Given the description of an element on the screen output the (x, y) to click on. 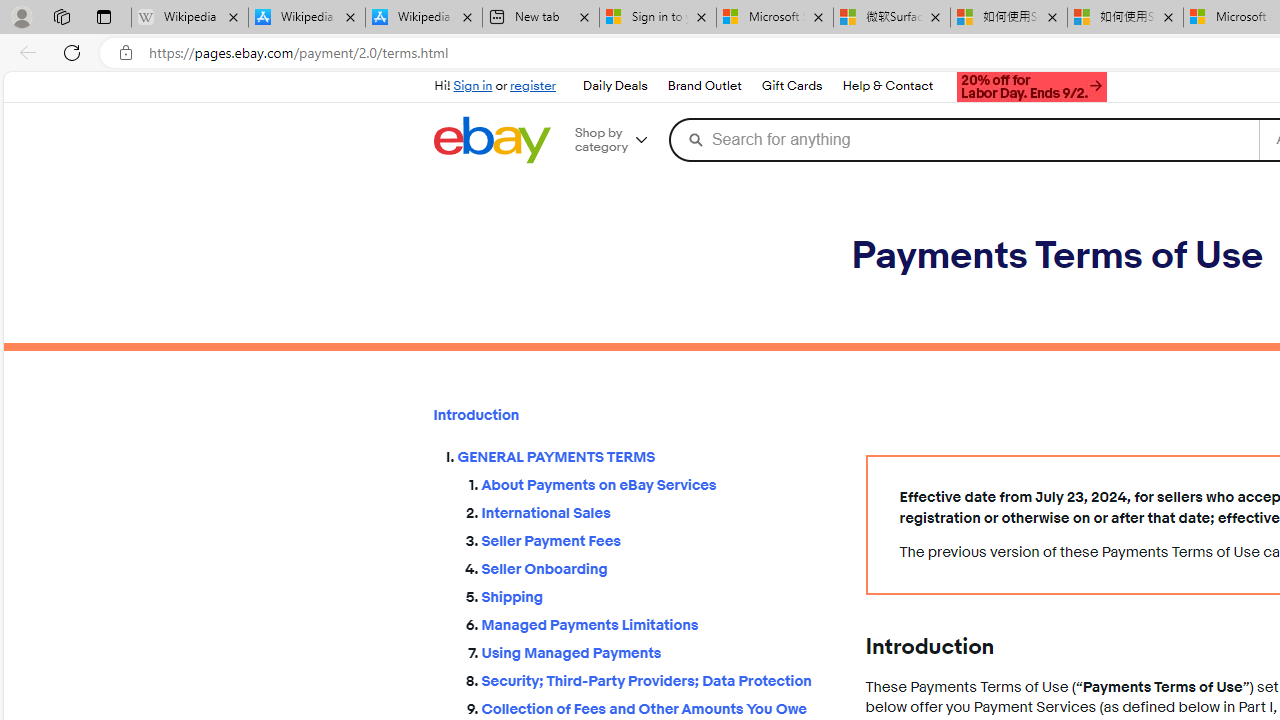
Gift Cards (791, 85)
AutomationID: gh-ti (1029, 84)
eBay Home (491, 139)
Shop by category (618, 140)
Get the coupon now (1032, 87)
Sign in to your Microsoft account (657, 17)
Brand Outlet (703, 85)
Daily Deals (614, 85)
Wikipedia - Sleeping (189, 17)
Seller Payment Fees (657, 537)
International Sales (657, 513)
